Given the description of an element on the screen output the (x, y) to click on. 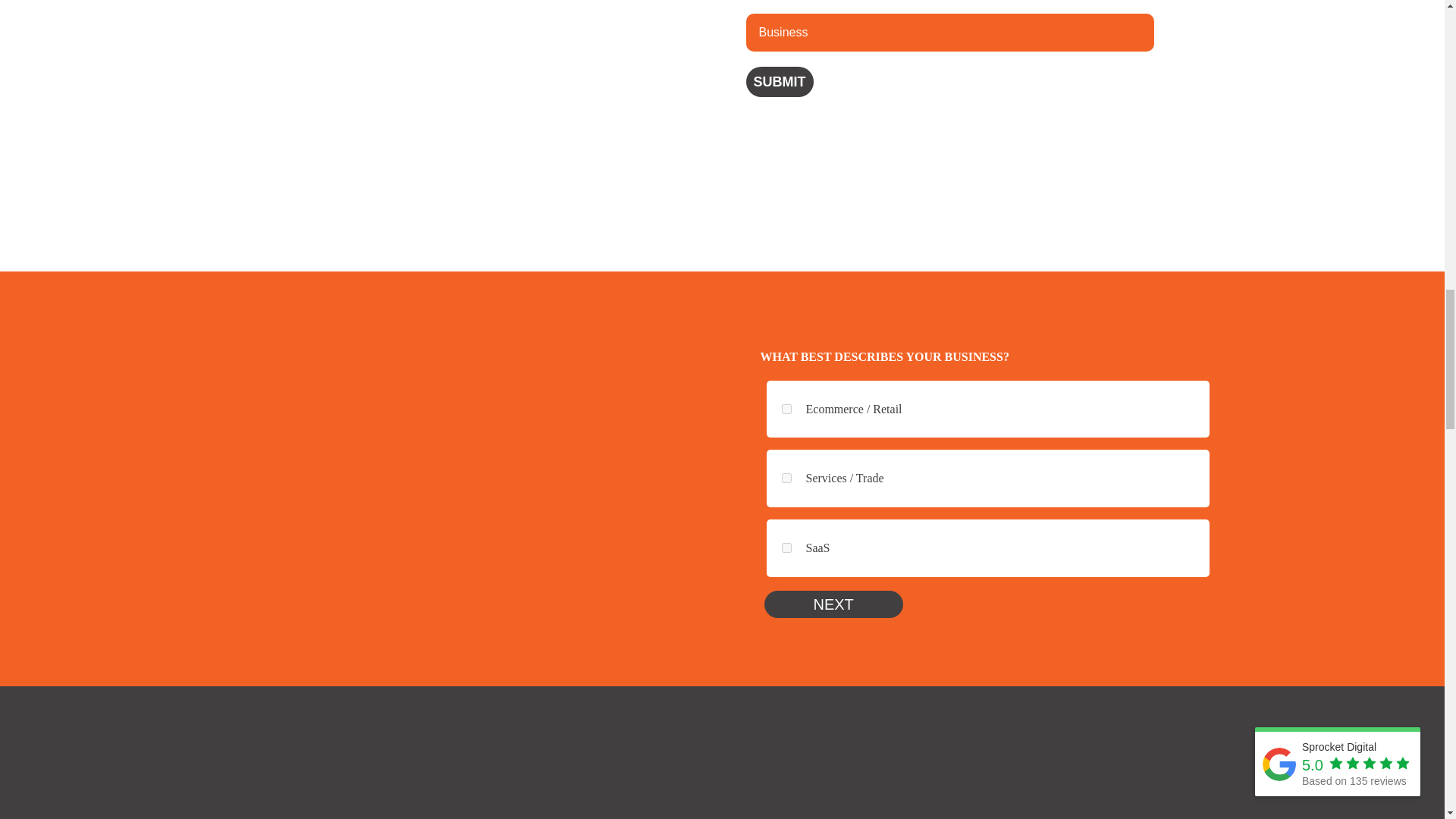
SaaS (785, 547)
